Given the description of an element on the screen output the (x, y) to click on. 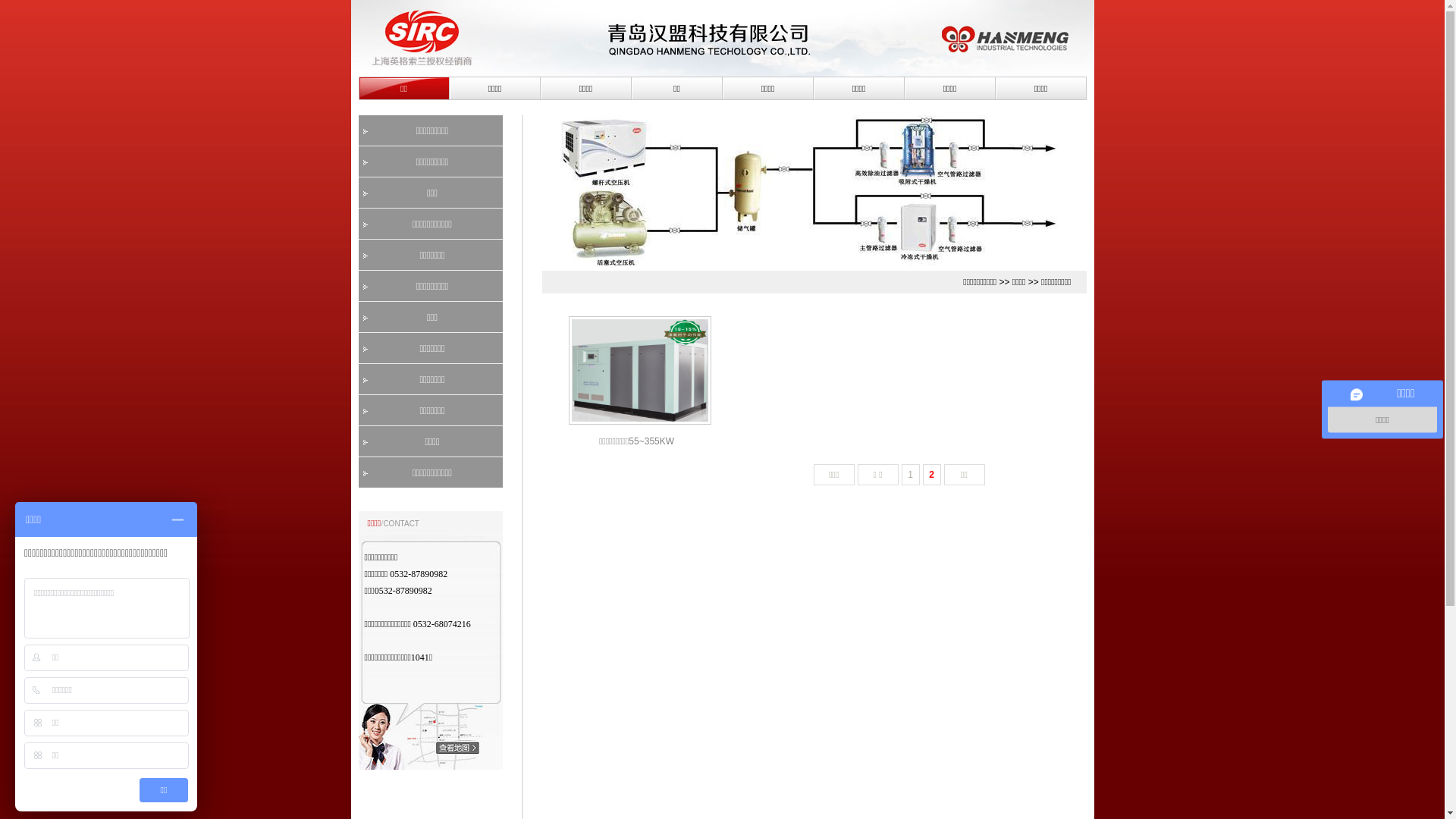
1 Element type: text (909, 474)
2 Element type: text (931, 474)
